Given the description of an element on the screen output the (x, y) to click on. 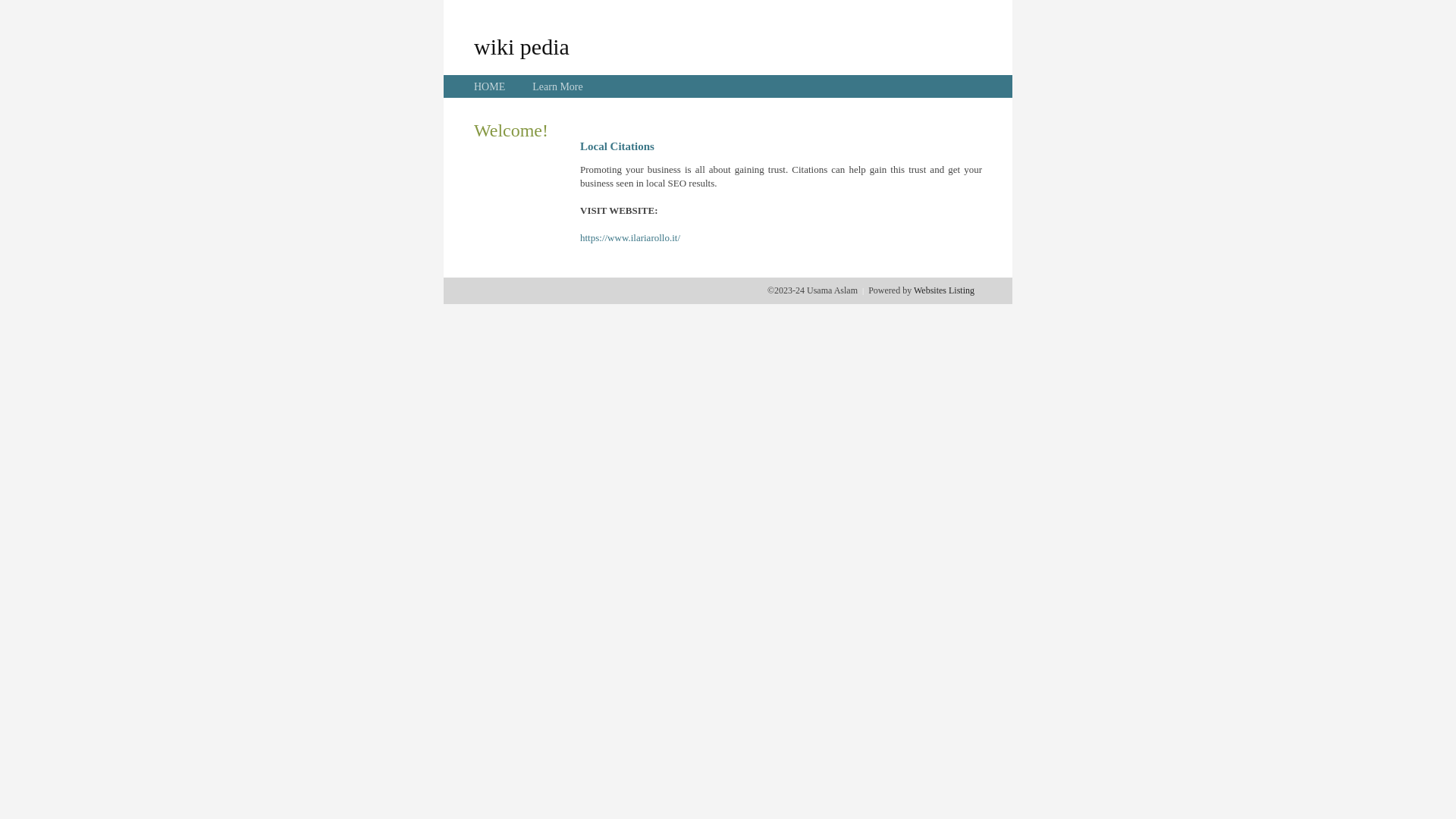
HOME Element type: text (489, 86)
wiki pedia Element type: text (521, 46)
Websites Listing Element type: text (943, 290)
Learn More Element type: text (557, 86)
https://www.ilariarollo.it/ Element type: text (630, 237)
